Given the description of an element on the screen output the (x, y) to click on. 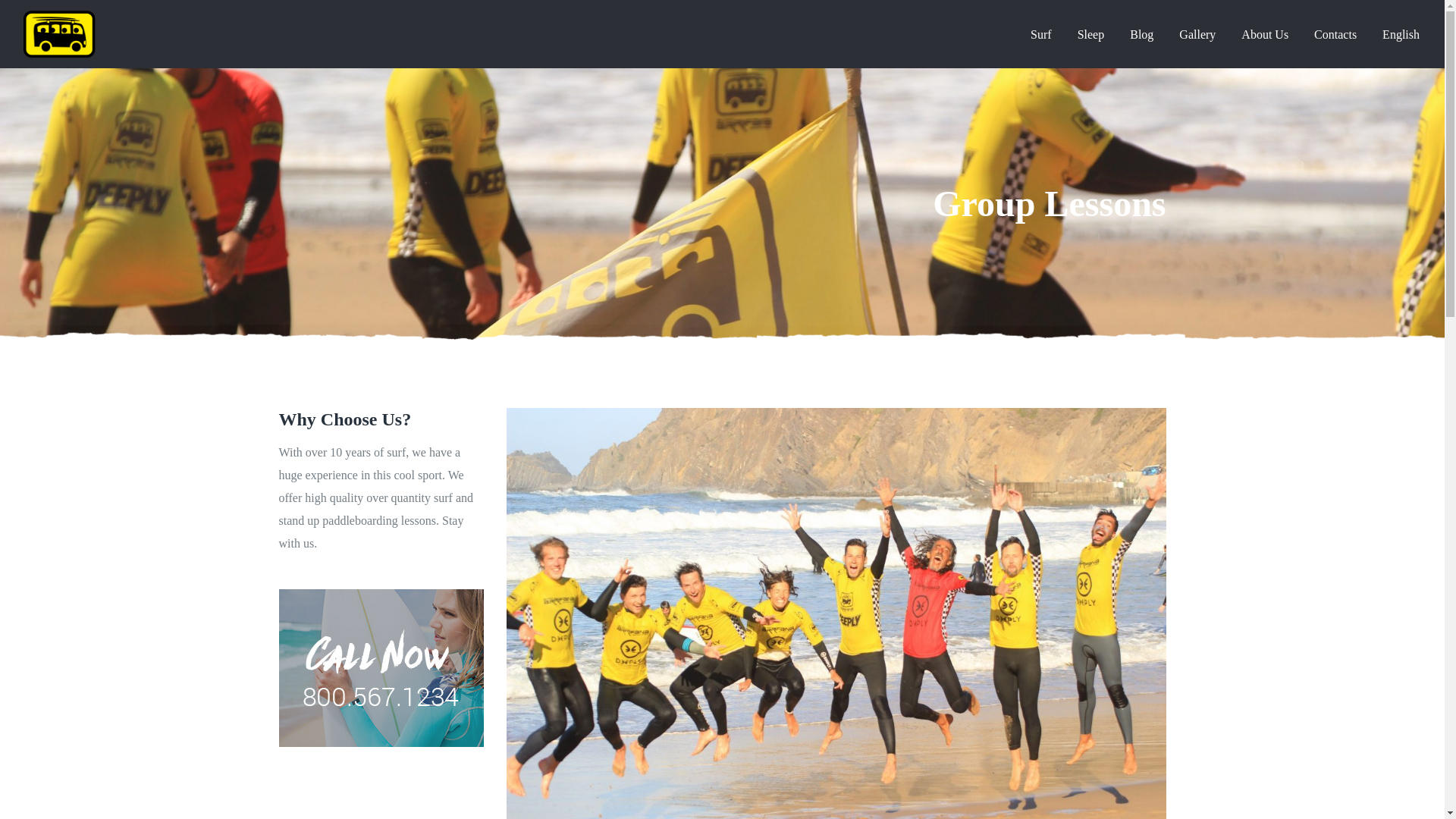
About Us (1264, 34)
Contacts (1334, 34)
